Given the description of an element on the screen output the (x, y) to click on. 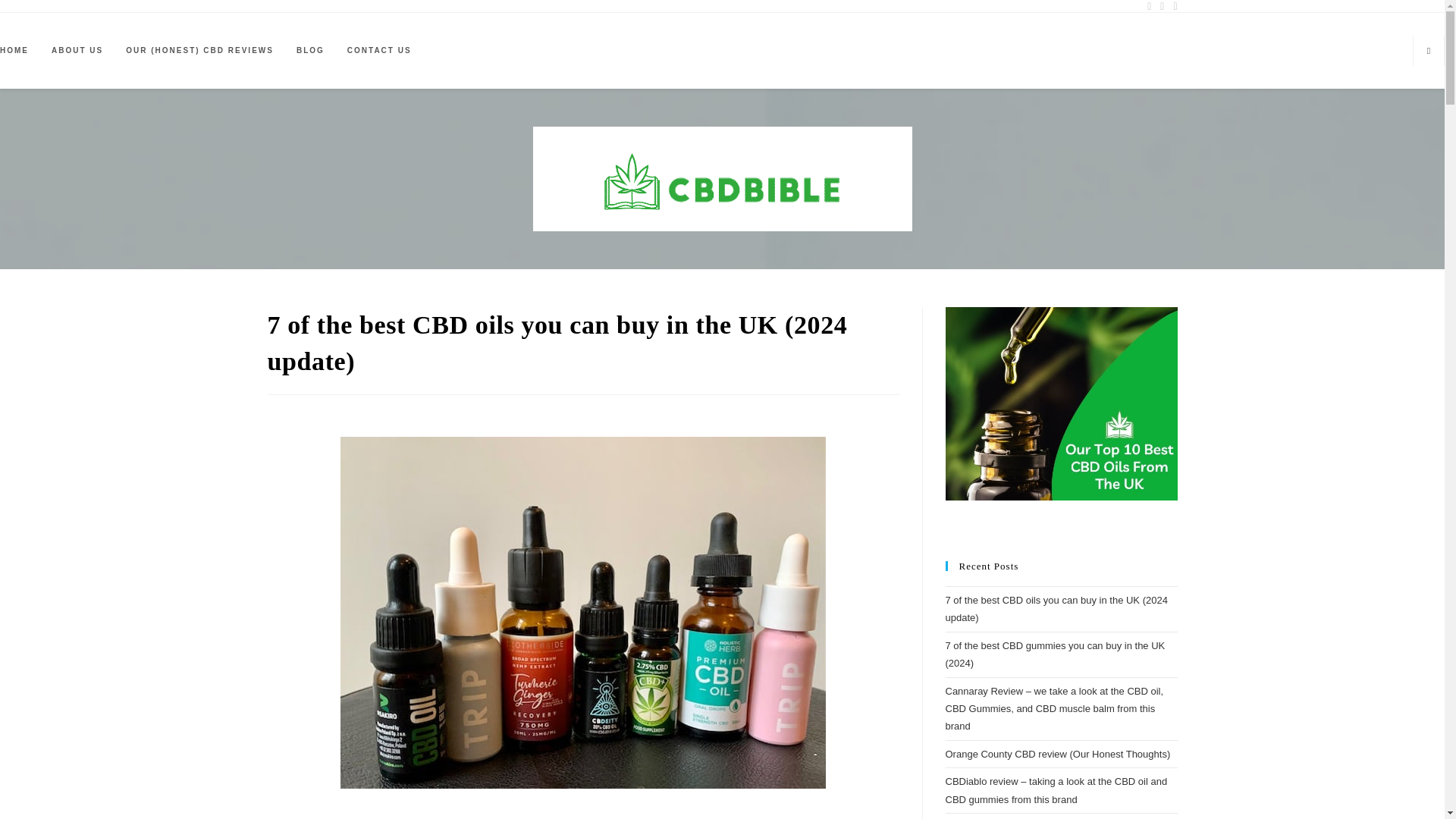
HOME (20, 51)
ABOUT US (77, 51)
CONTACT US (379, 51)
BLOG (310, 51)
